Given the description of an element on the screen output the (x, y) to click on. 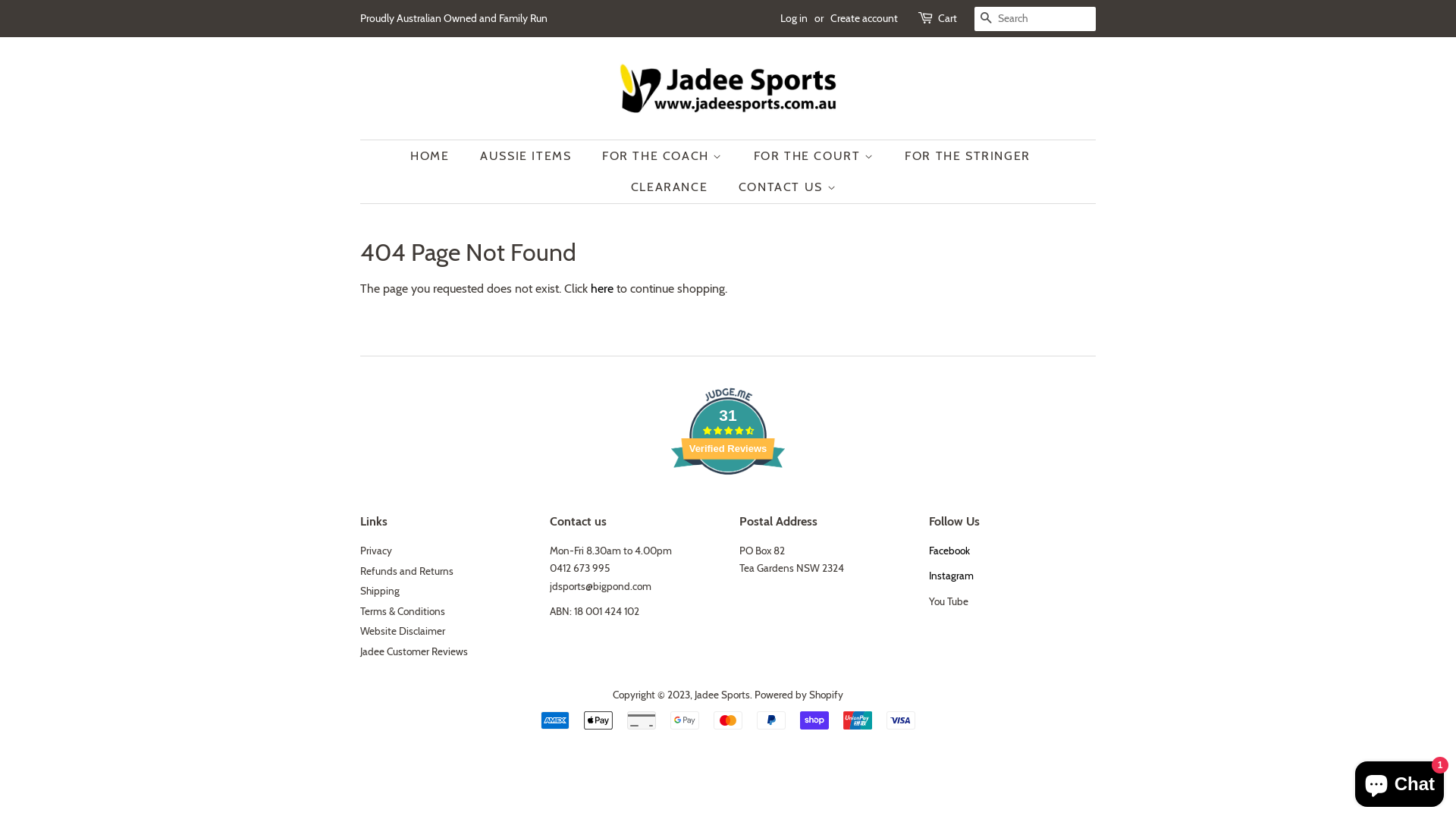
here Element type: text (601, 288)
Terms & Conditions Element type: text (402, 611)
CLEARANCE Element type: text (670, 186)
Log in Element type: text (793, 18)
Facebook Element type: text (948, 550)
31
Verified Reviews Element type: text (727, 501)
FOR THE COURT Element type: text (815, 155)
Powered by Shopify Element type: text (798, 694)
Shopify online store chat Element type: hover (1399, 780)
HOME Element type: text (437, 155)
Cart Element type: text (947, 18)
Privacy Element type: text (376, 550)
SEARCH Element type: text (986, 18)
Website Disclaimer Element type: text (402, 630)
Shipping Element type: text (379, 590)
AUSSIE ITEMS Element type: text (527, 155)
FOR THE STRINGER Element type: text (969, 155)
Refunds and Returns Element type: text (406, 570)
FOR THE COACH Element type: text (663, 155)
CONTACT US Element type: text (781, 186)
Create account Element type: text (863, 18)
Instagram Element type: text (950, 575)
Jadee Sports Element type: text (721, 694)
Jadee Customer Reviews Element type: text (413, 651)
